Given the description of an element on the screen output the (x, y) to click on. 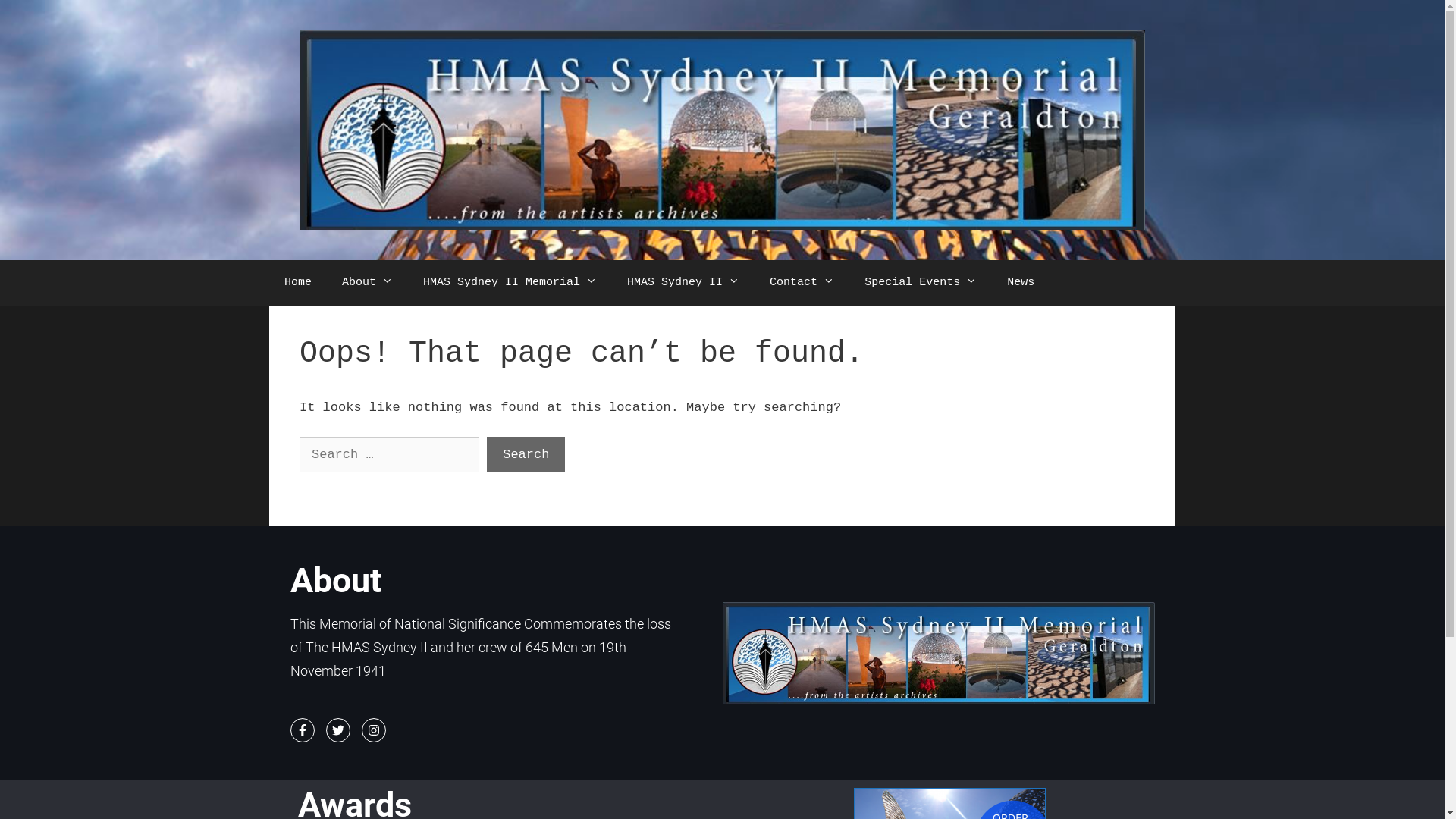
About Element type: text (366, 282)
HMAS Sydney II Memorial Element type: text (509, 282)
Home Element type: text (297, 282)
News Element type: text (1020, 282)
Search for: Element type: hover (389, 454)
Search Element type: text (525, 454)
HMAS Sydney II Element type: text (682, 282)
Special Events Element type: text (920, 282)
Contact Element type: text (801, 282)
